Given the description of an element on the screen output the (x, y) to click on. 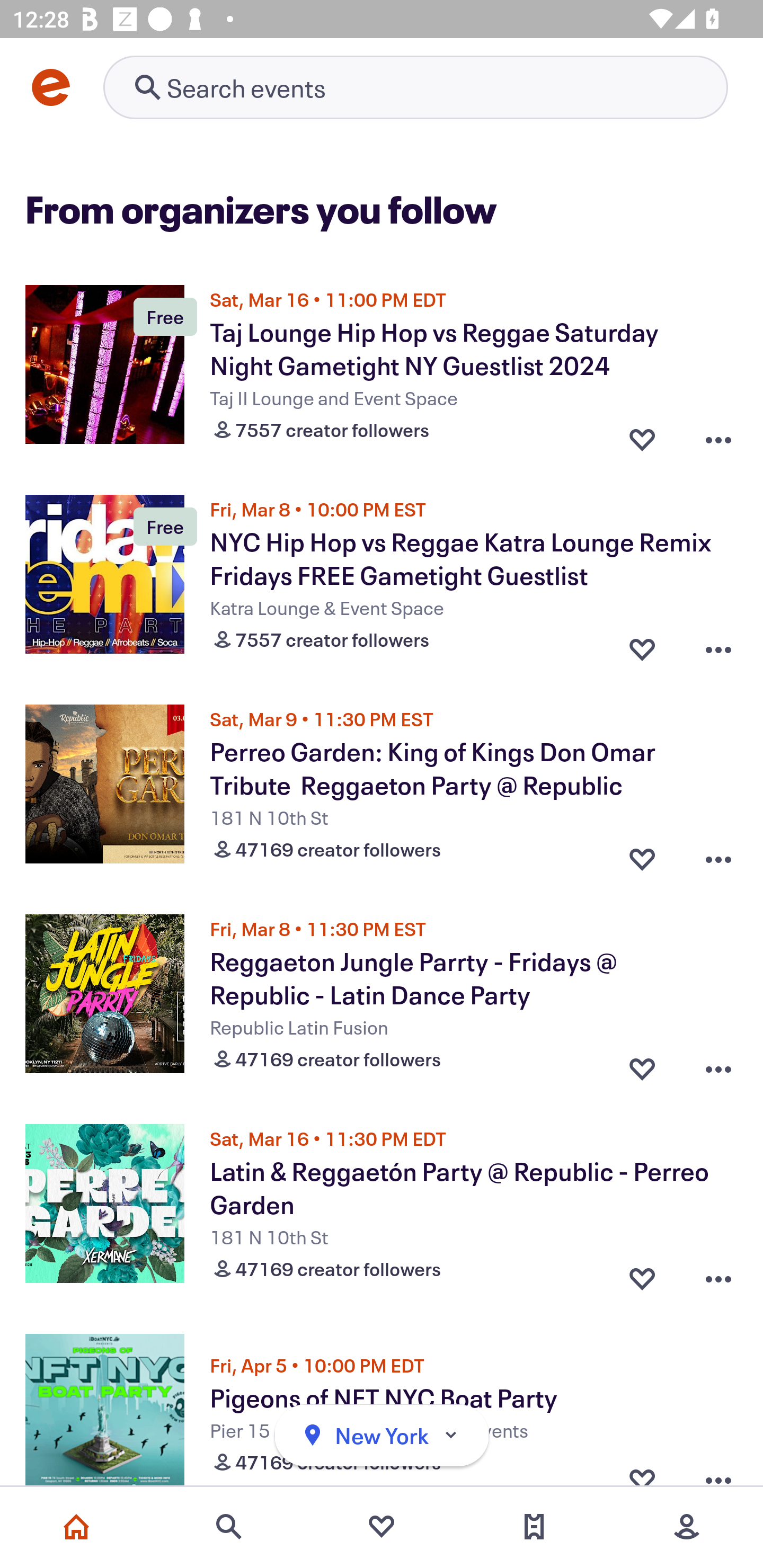
Retry's image Search events (415, 86)
Favorite button (642, 434)
Overflow menu button (718, 434)
Favorite button (642, 644)
Overflow menu button (718, 644)
Favorite button (642, 855)
Overflow menu button (718, 855)
Favorite button (642, 1065)
Overflow menu button (718, 1065)
Favorite button (642, 1274)
Overflow menu button (718, 1274)
New York (381, 1435)
Favorite button (642, 1466)
Overflow menu button (718, 1466)
Home (76, 1526)
Search events (228, 1526)
Favorites (381, 1526)
Tickets (533, 1526)
More (686, 1526)
